Given the description of an element on the screen output the (x, y) to click on. 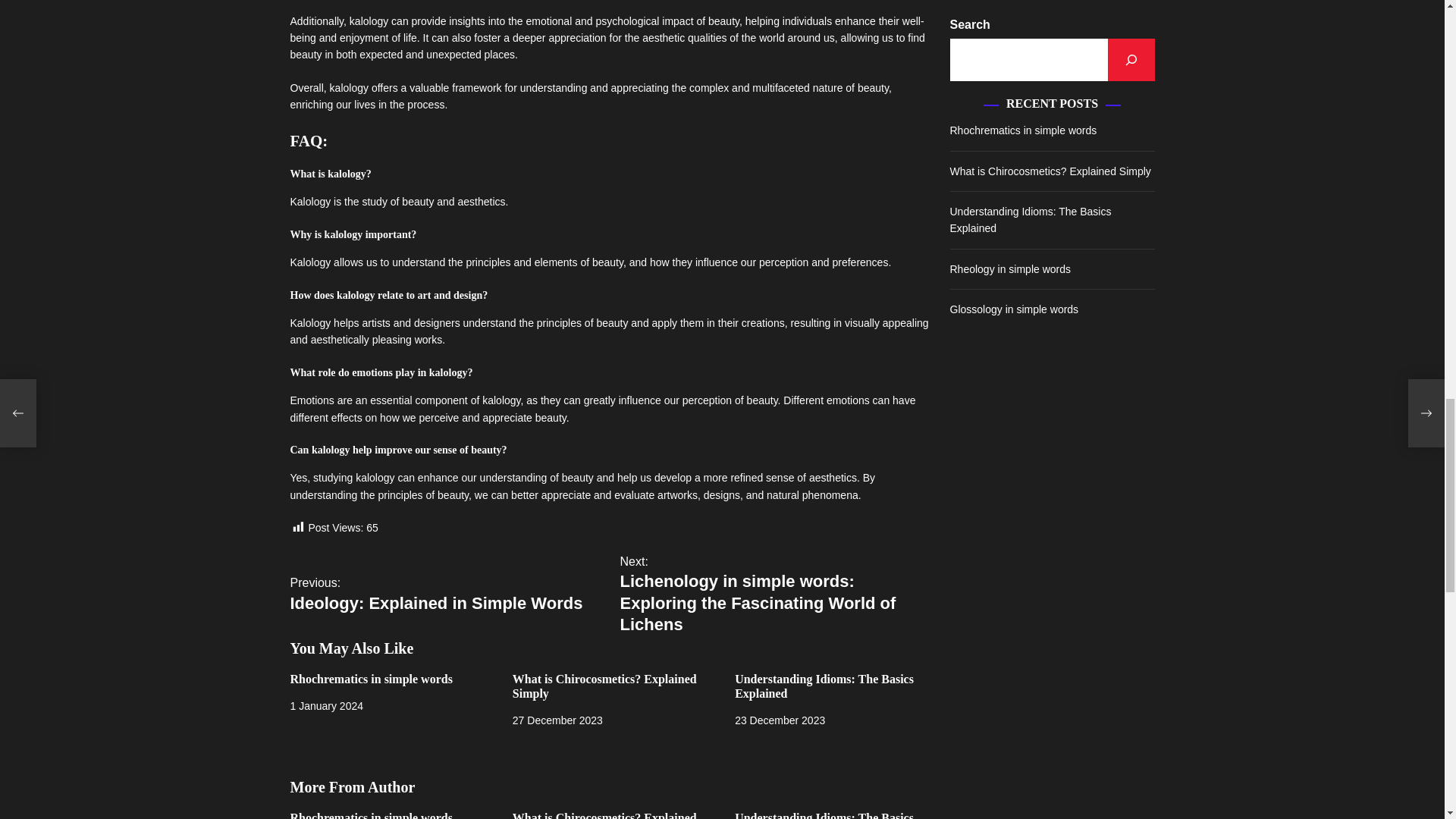
What is Chirocosmetics? Explained Simply (604, 686)
Understanding Idioms: The Basics Explained (824, 686)
Rhochrematics in simple words (370, 815)
Rhochrematics in simple words (446, 593)
